Given the description of an element on the screen output the (x, y) to click on. 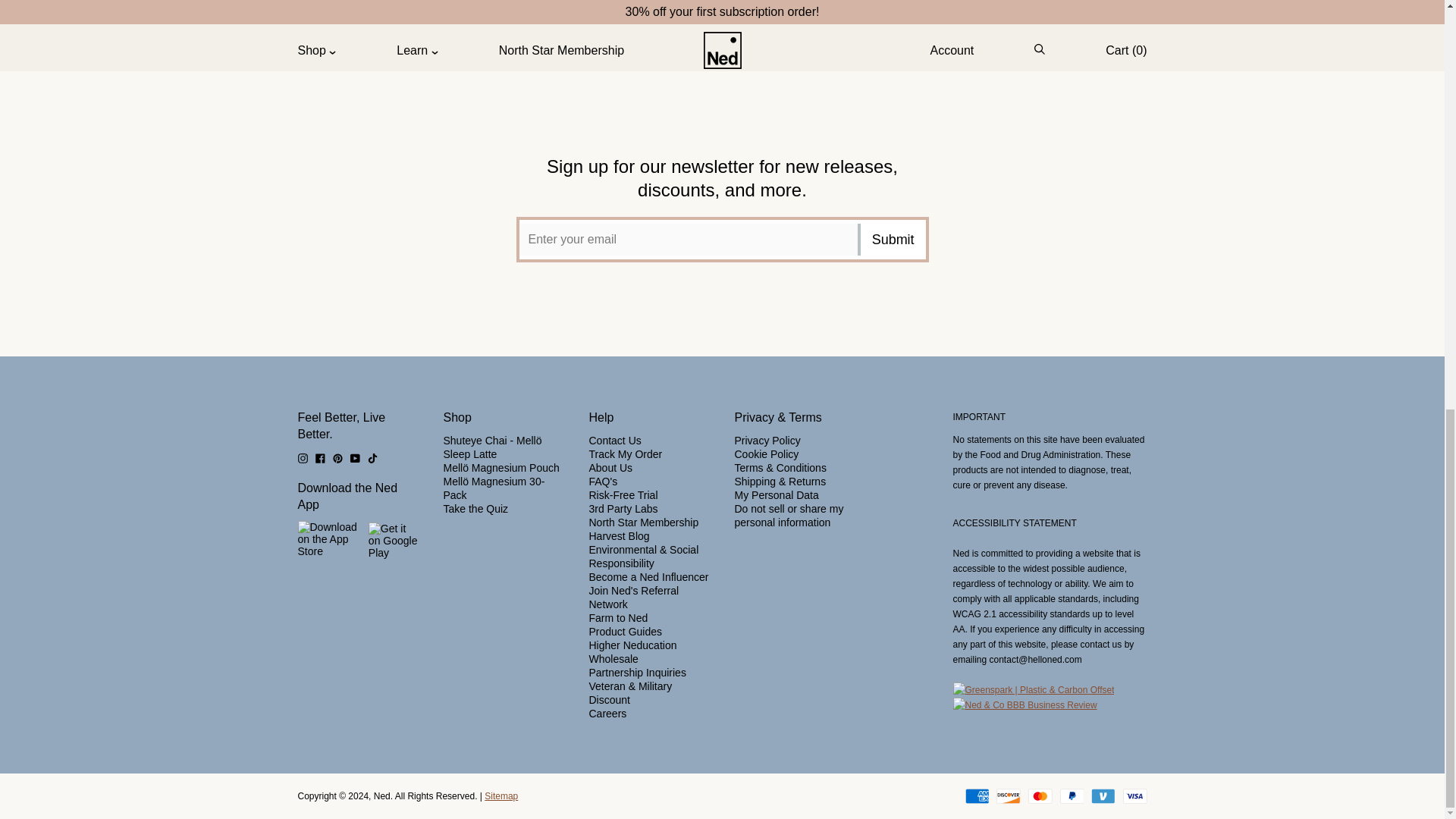
Ned on Pinterest (336, 457)
Discover (1007, 795)
Ned on Instagram (302, 457)
Mastercard (1039, 795)
Ned on Youtube (354, 457)
Ned on Facebook (319, 457)
Ned on TikTok (371, 457)
American Express (977, 795)
Venmo (1102, 795)
PayPal (1071, 795)
Visa (1134, 795)
